Given the description of an element on the screen output the (x, y) to click on. 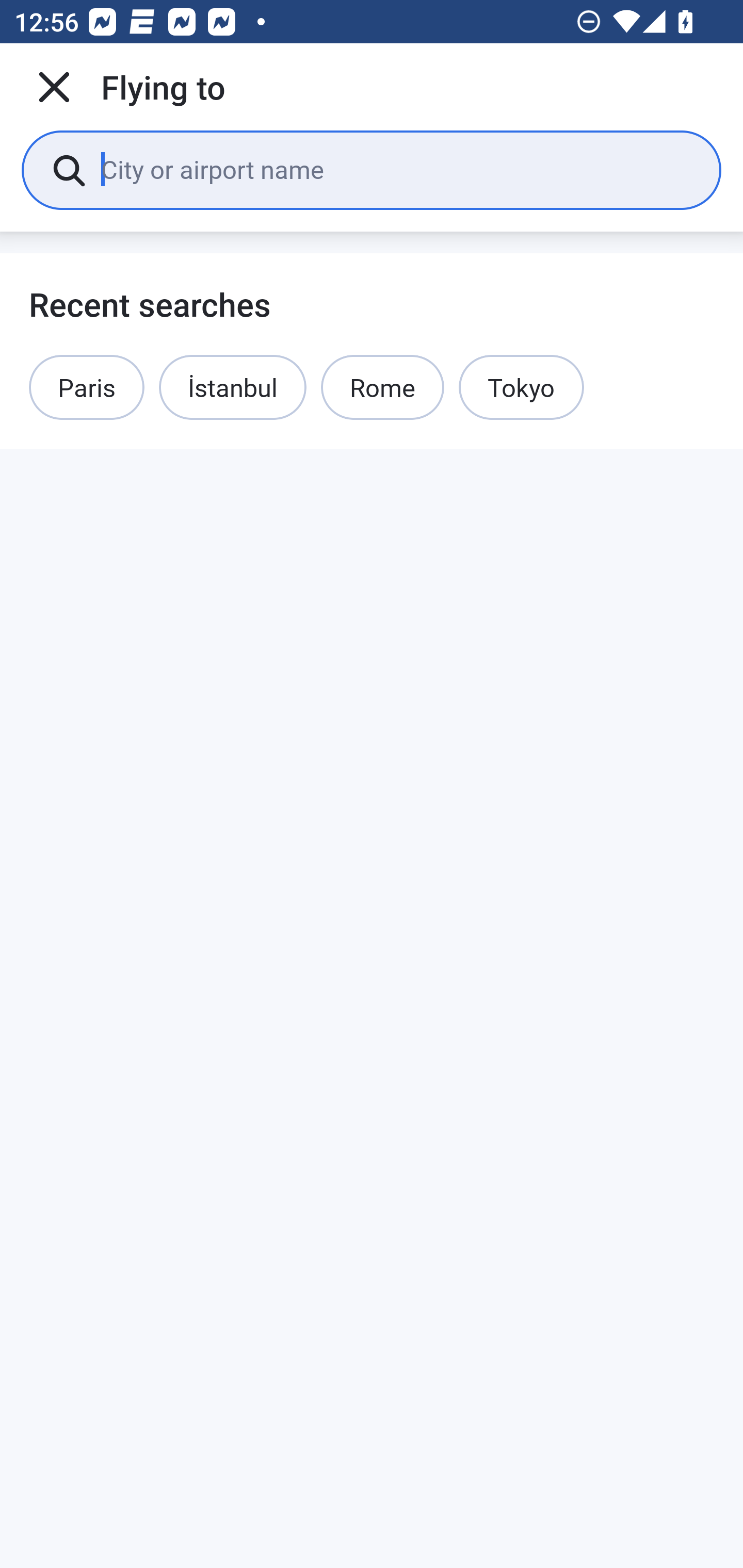
City or airport name (396, 169)
Paris (86, 387)
İstanbul (232, 387)
Rome (382, 387)
Tokyo (520, 387)
